Given the description of an element on the screen output the (x, y) to click on. 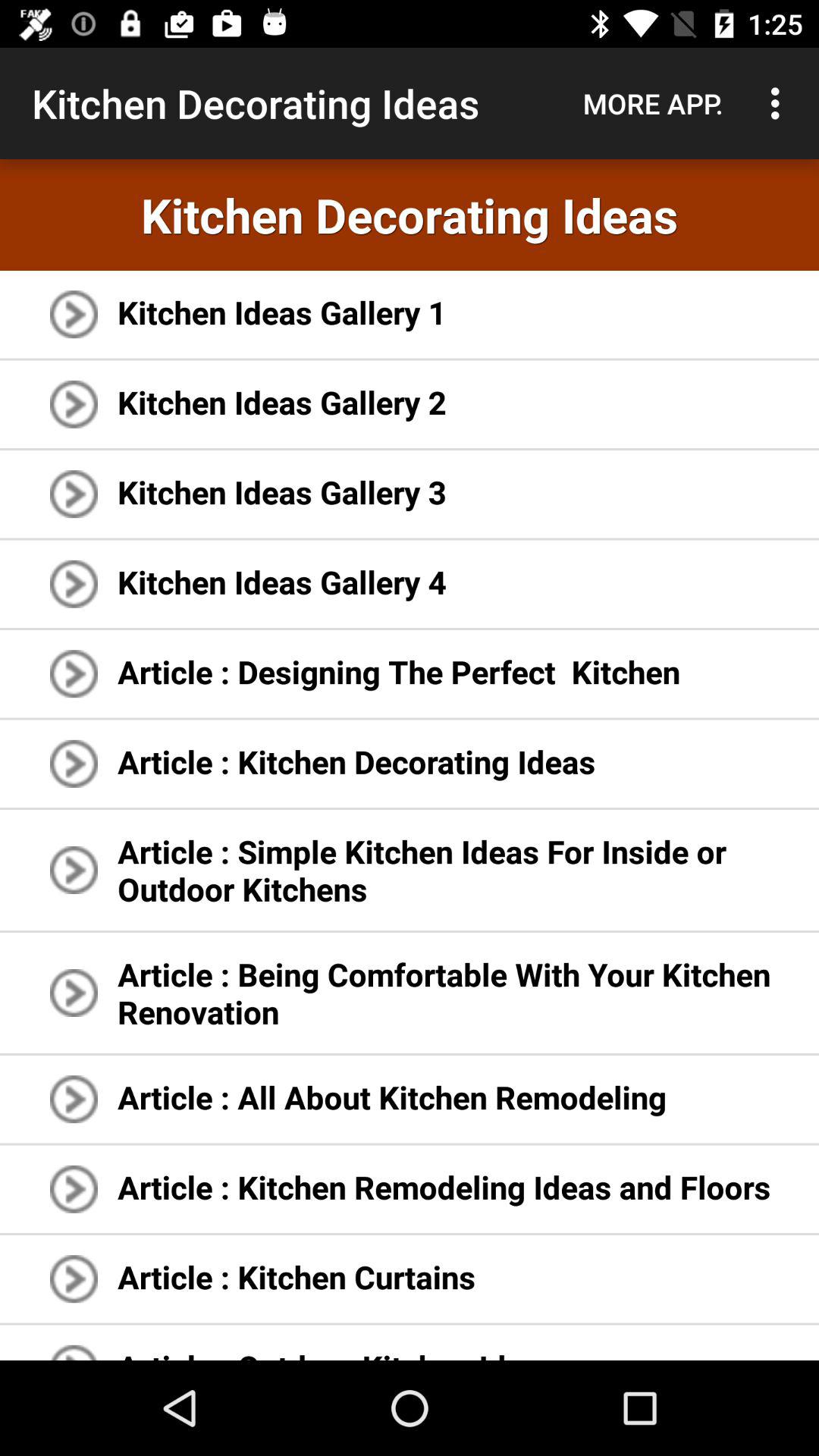
press the icon to the right of the more app. icon (779, 103)
